Given the description of an element on the screen output the (x, y) to click on. 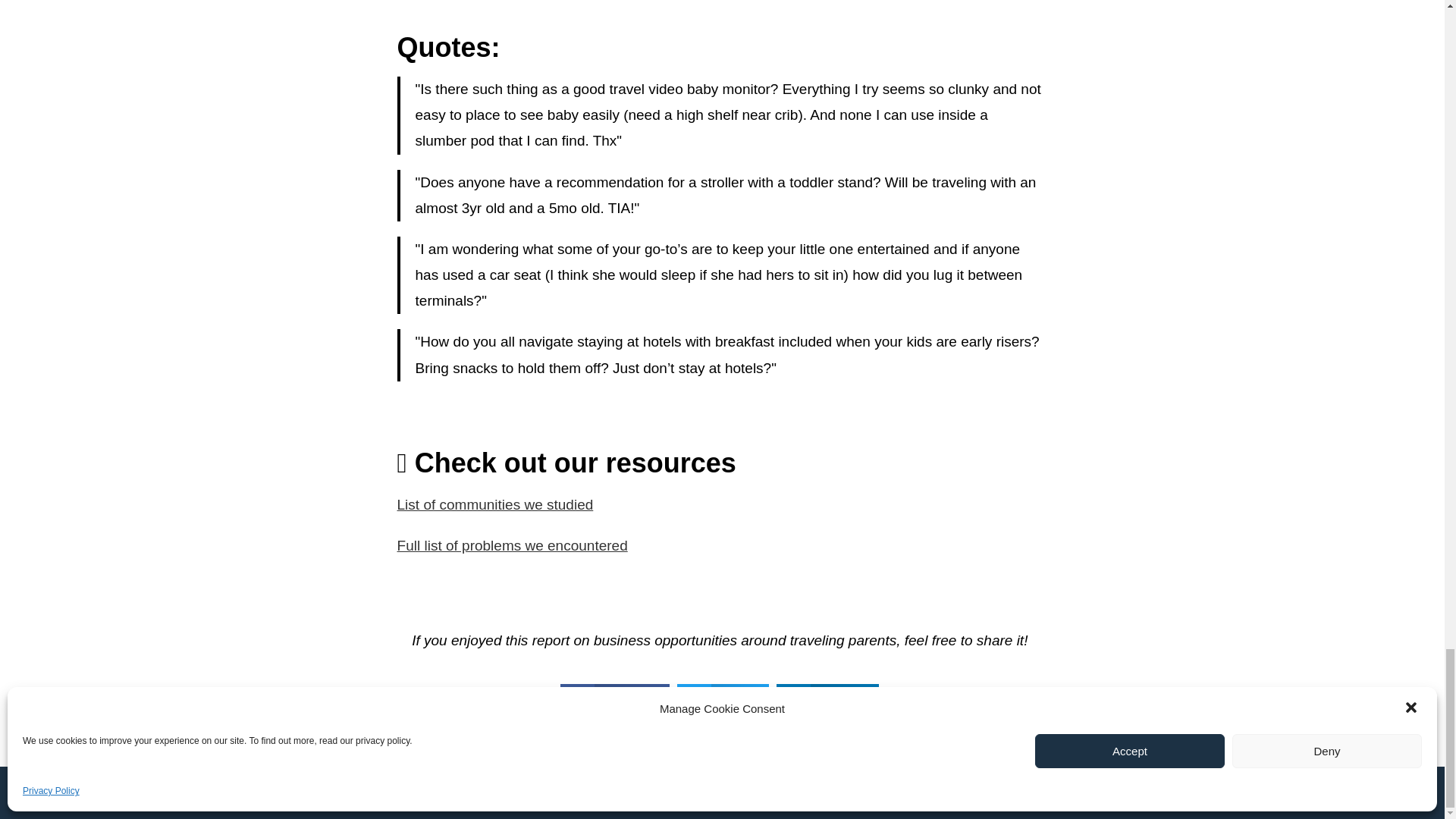
List of communities we studied (495, 504)
Full list of problems we encountered (512, 545)
